Given the description of an element on the screen output the (x, y) to click on. 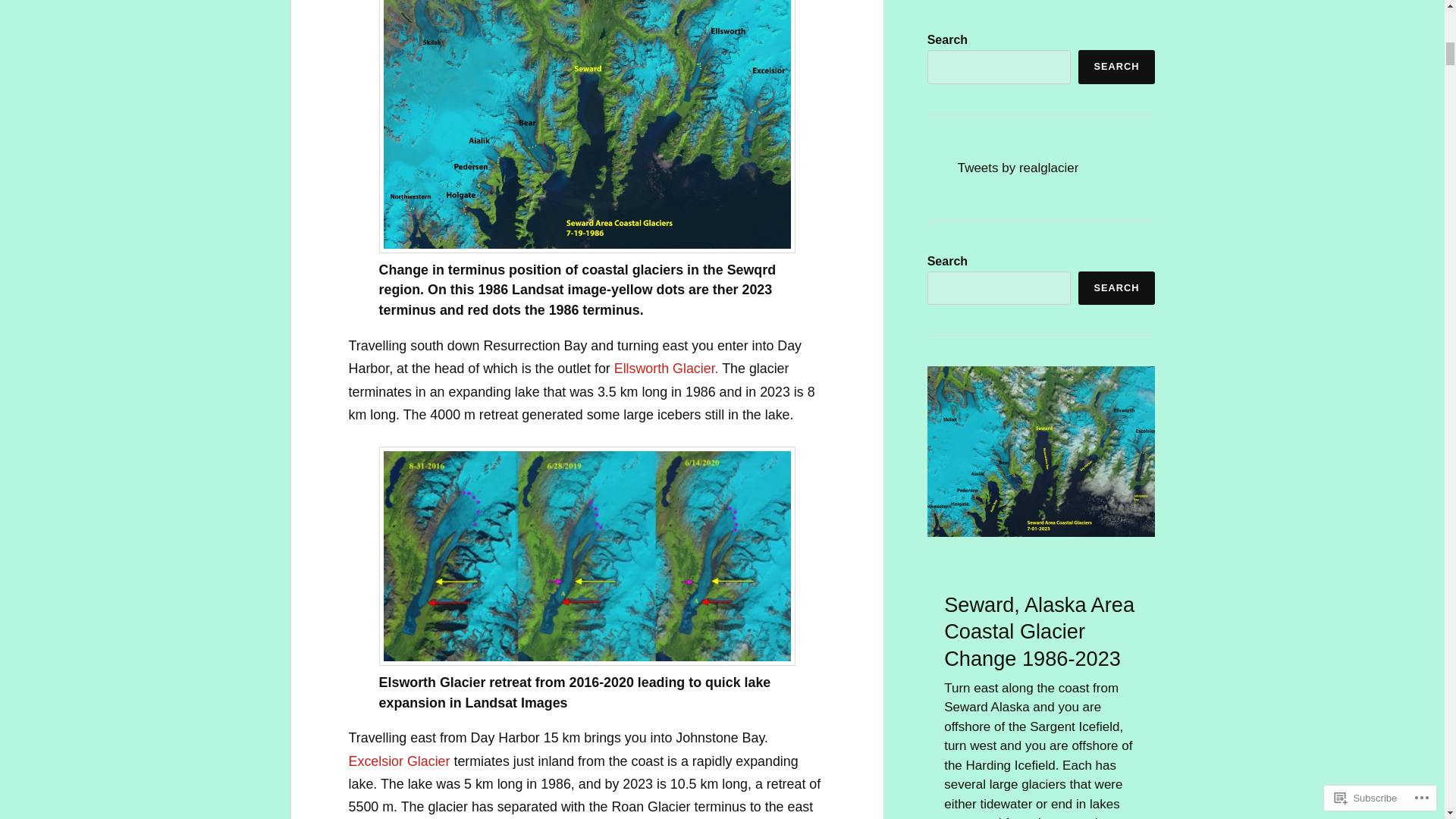
Ellsworth Glacier. (666, 368)
Excelsior Glacier (399, 761)
